Given the description of an element on the screen output the (x, y) to click on. 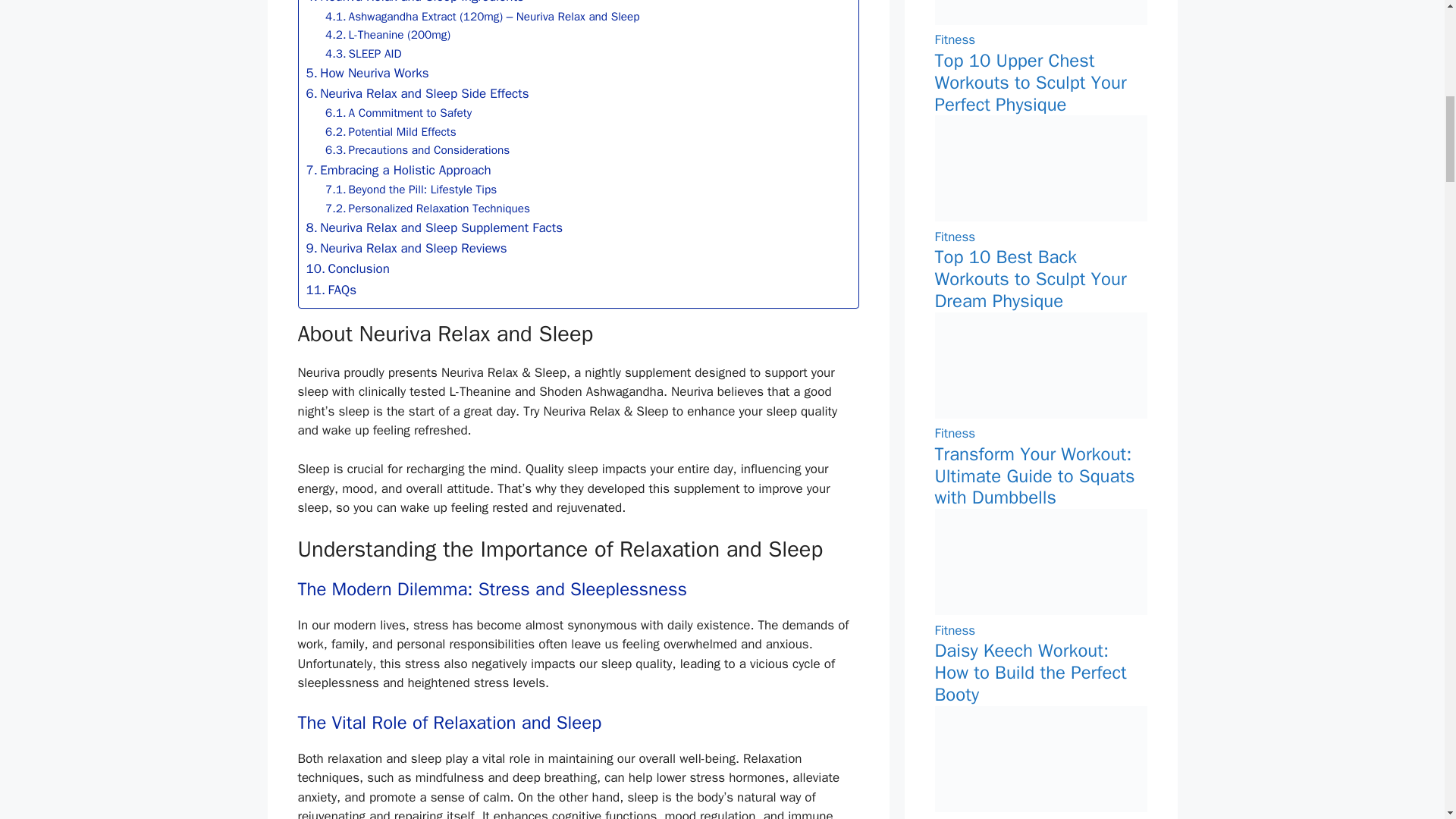
Precautions and Considerations (416, 149)
Neuriva Relax and Sleep Side Effects (417, 93)
FAQs (330, 290)
Embracing a Holistic Approach (398, 169)
How Neuriva Works (367, 73)
Neuriva Relax and Sleep Reviews (405, 248)
Neuriva Relax and Sleep Supplement Facts (433, 227)
A Commitment to Safety (397, 113)
How Neuriva Works (367, 73)
Neuriva Relax and Sleep Ingredients (414, 3)
